Given the description of an element on the screen output the (x, y) to click on. 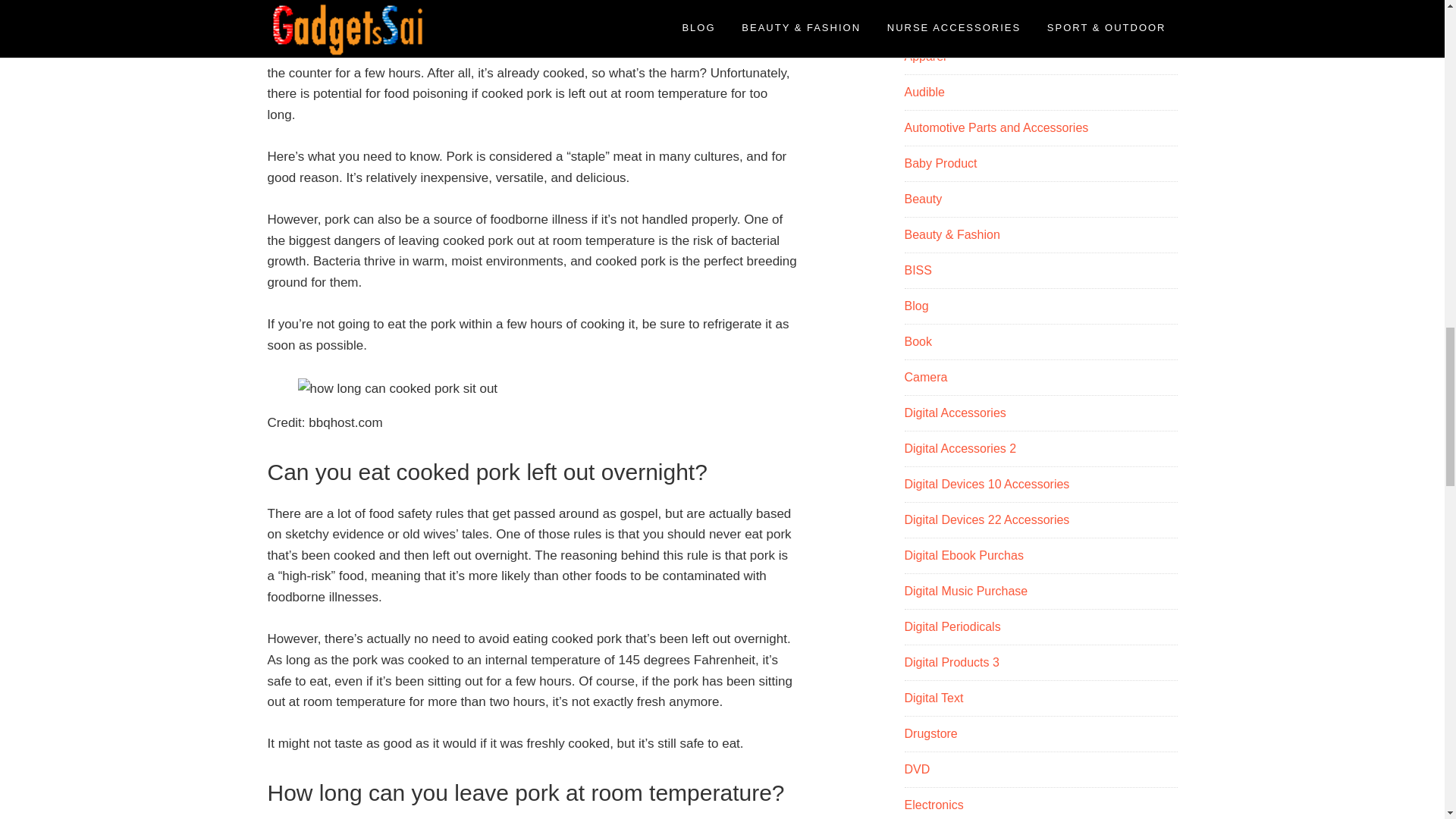
Baby Product (940, 163)
Apparel (924, 56)
Automotive Parts and Accessories (995, 127)
Audible (923, 91)
Beauty (923, 198)
